Given the description of an element on the screen output the (x, y) to click on. 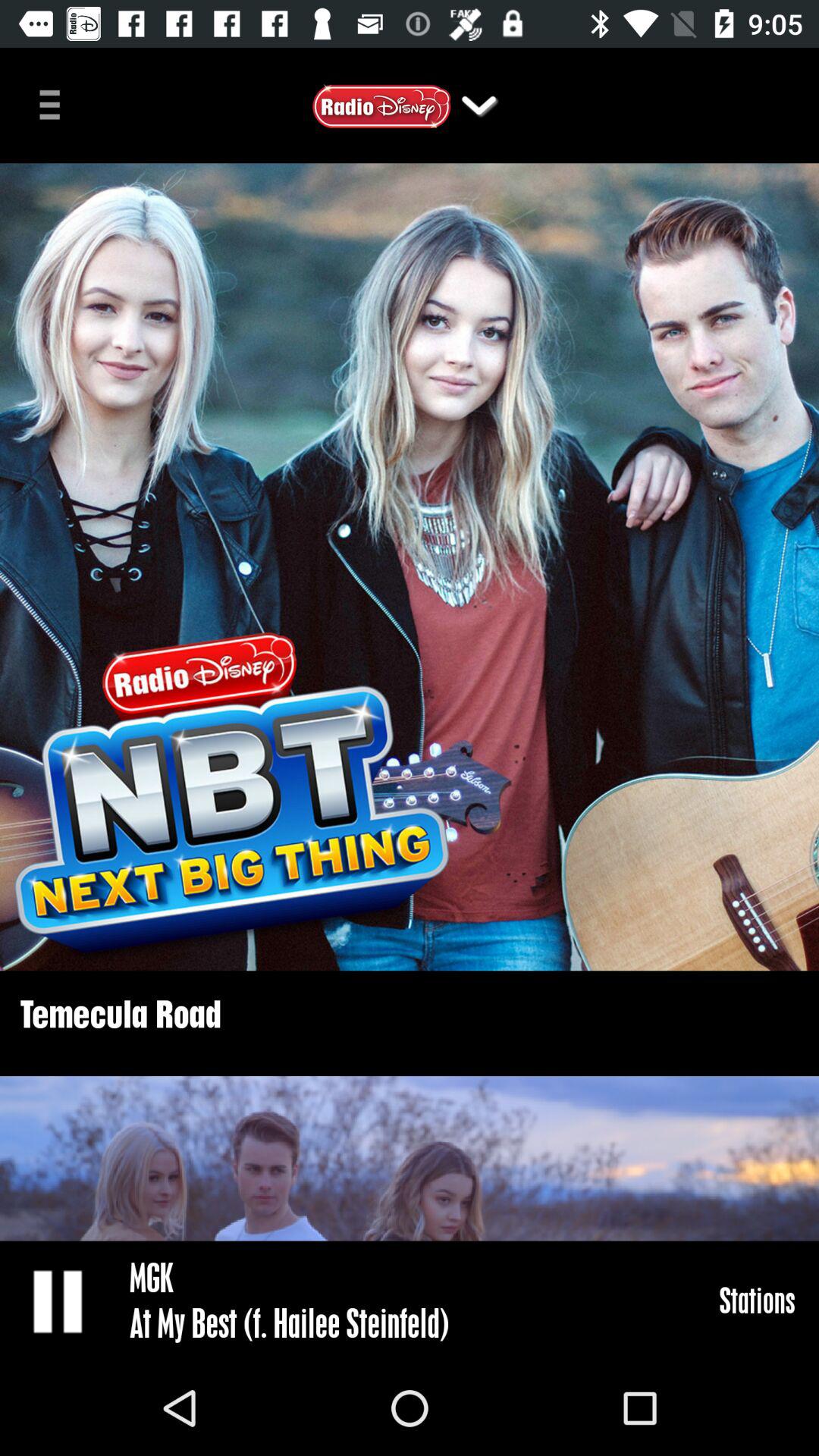
click the item to the left of mgk icon (59, 1300)
